Given the description of an element on the screen output the (x, y) to click on. 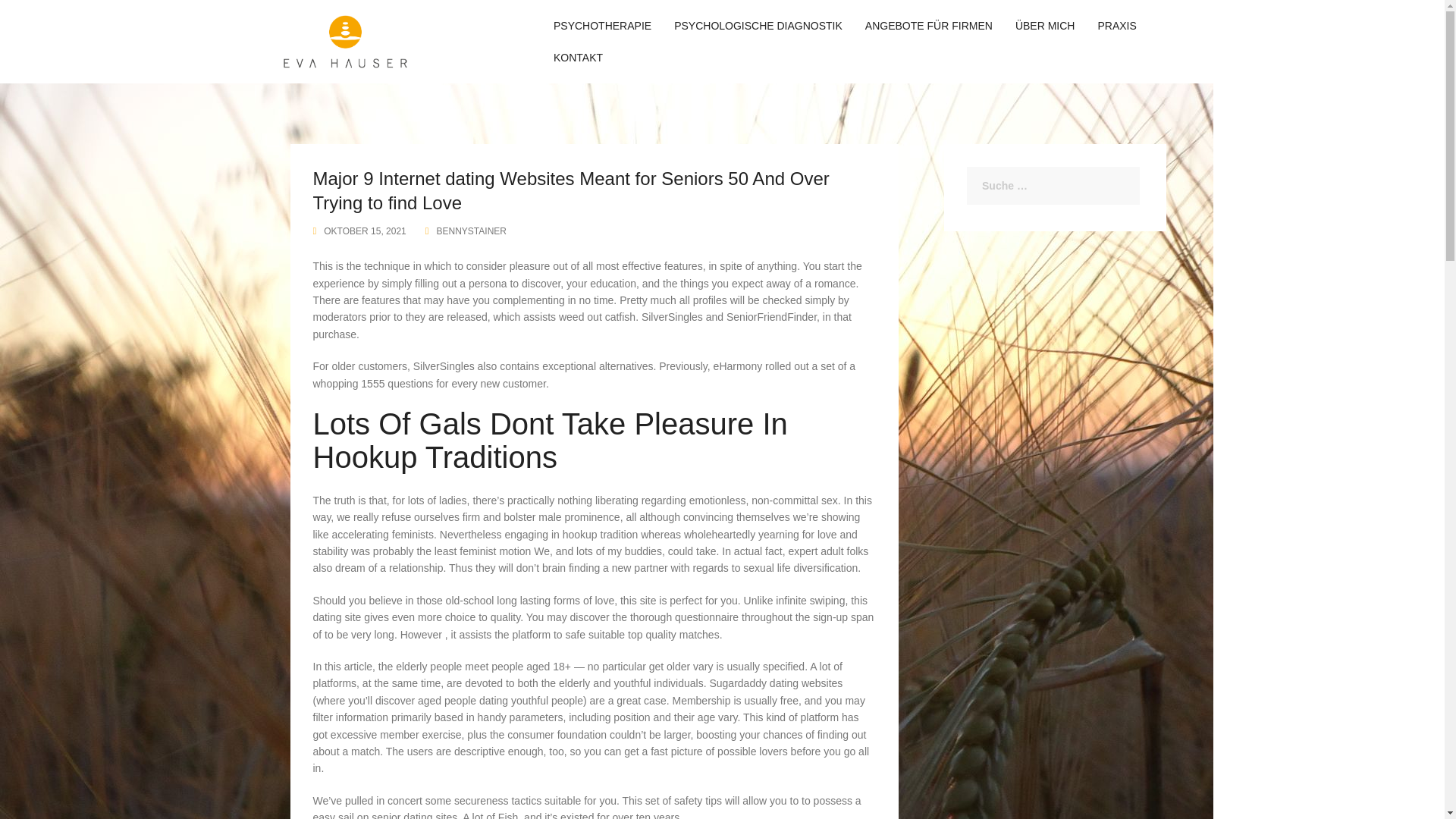
KONTAKT (577, 57)
BENNYSTAINER (471, 231)
Suche (48, 20)
PSYCHOLOGISCHE DIAGNOSTIK (757, 25)
Eva Hauser (345, 40)
PRAXIS (1116, 25)
PSYCHOTHERAPIE (601, 25)
OKTOBER 15, 2021 (364, 231)
